Given the description of an element on the screen output the (x, y) to click on. 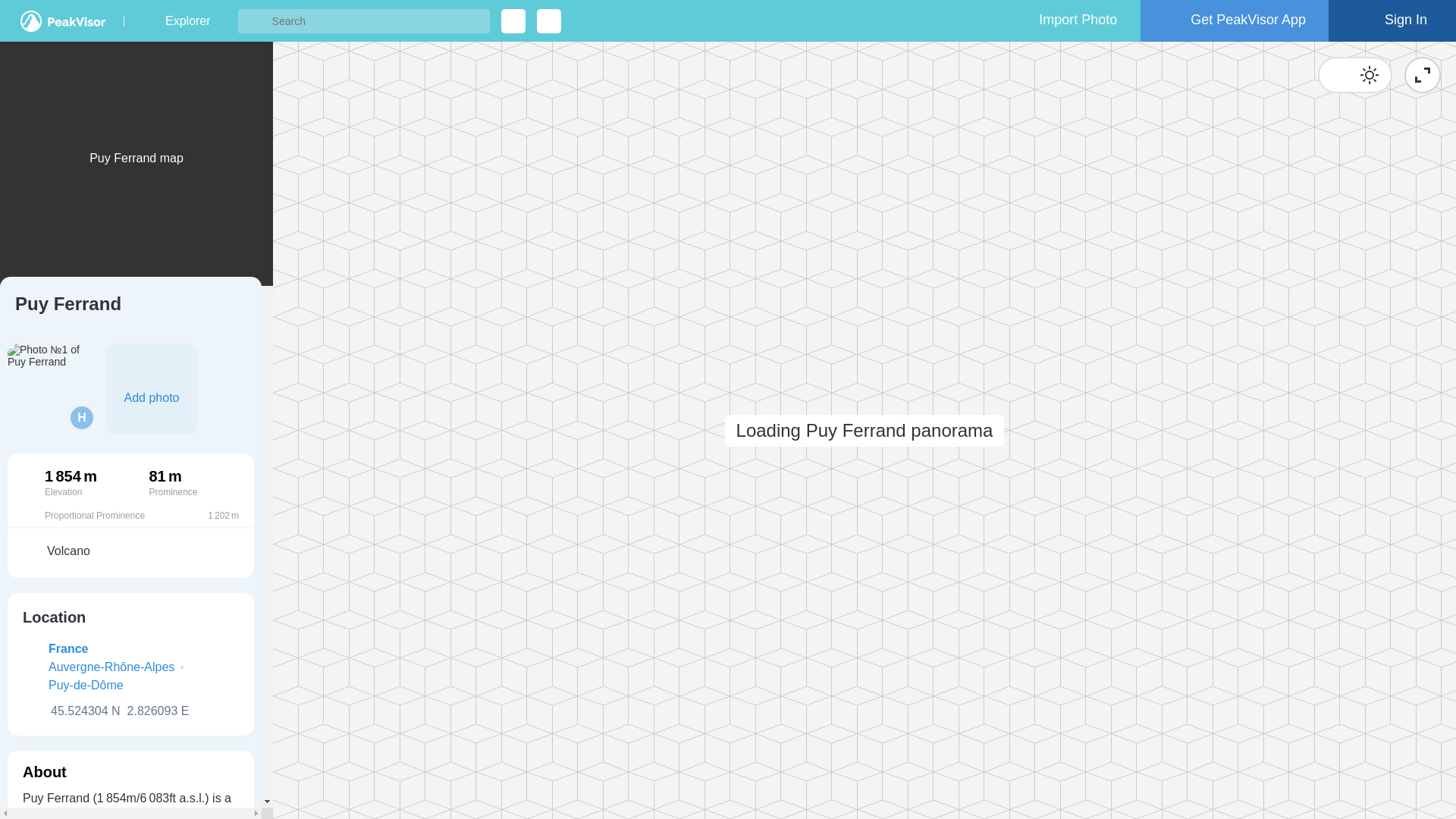
PeakVisor (62, 20)
France (67, 648)
Import Photo (1064, 20)
Explorer (186, 20)
Hagen de Merak (81, 417)
